Given the description of an element on the screen output the (x, y) to click on. 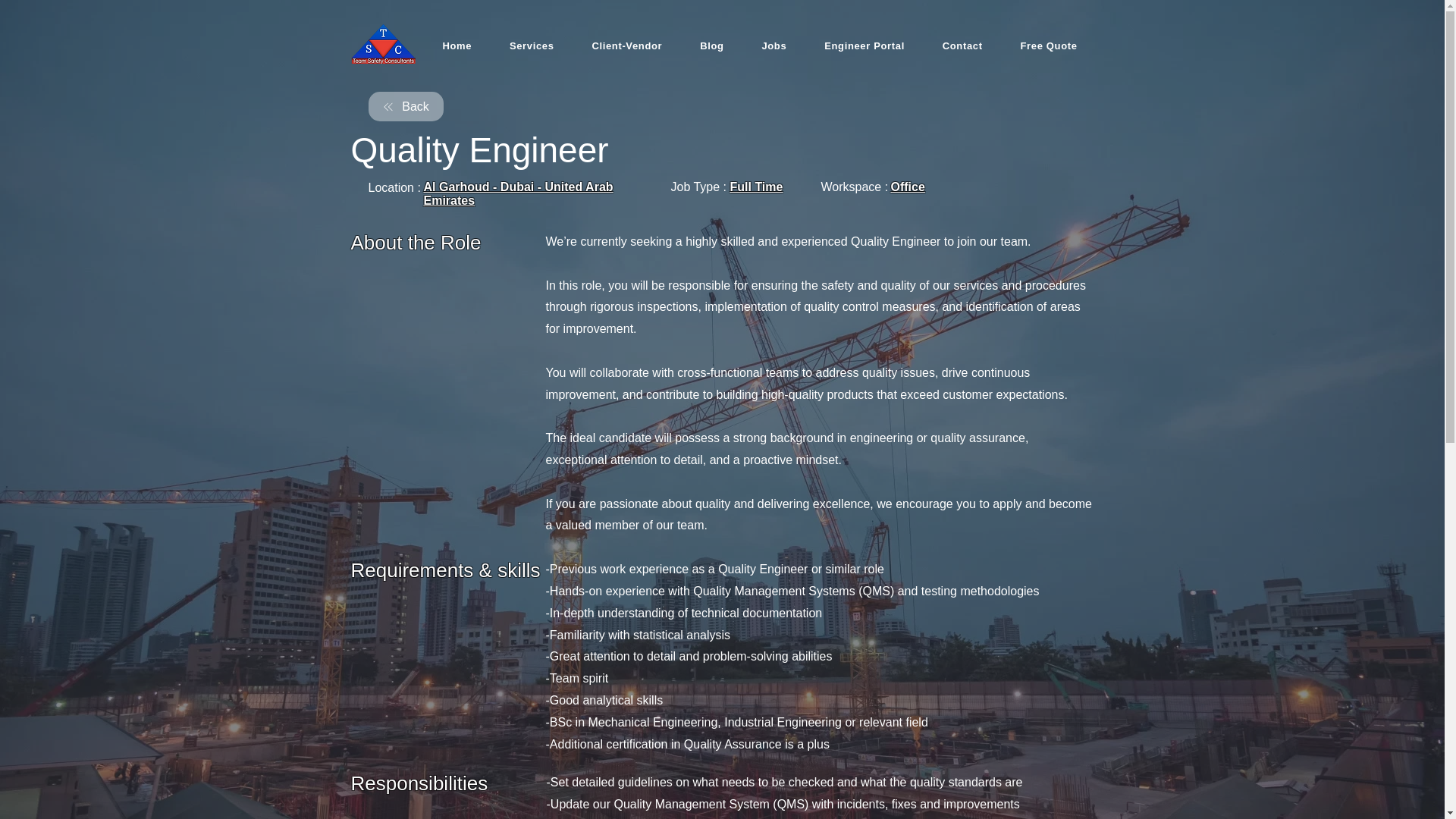
Contact (962, 45)
Client-Vendor (626, 45)
Services (531, 45)
Home (457, 45)
Free Quote (1049, 45)
Back (406, 106)
Engineer Portal (864, 45)
Blog (710, 45)
Jobs (773, 45)
